Given the description of an element on the screen output the (x, y) to click on. 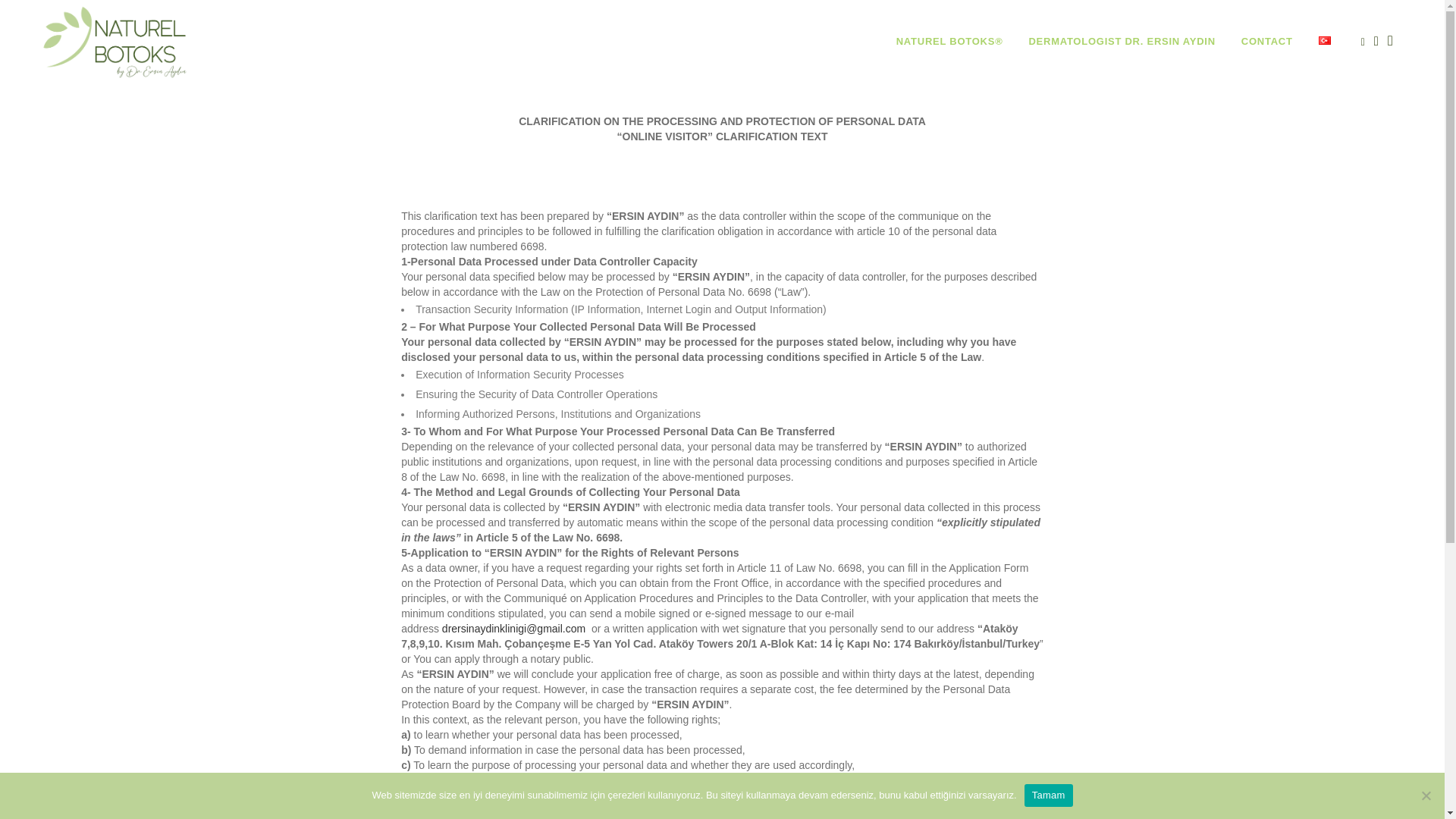
DERMATOLOGIST DR. ERSIN AYDIN (1120, 41)
CONTACT (1265, 41)
Tamam (1049, 794)
